Given the description of an element on the screen output the (x, y) to click on. 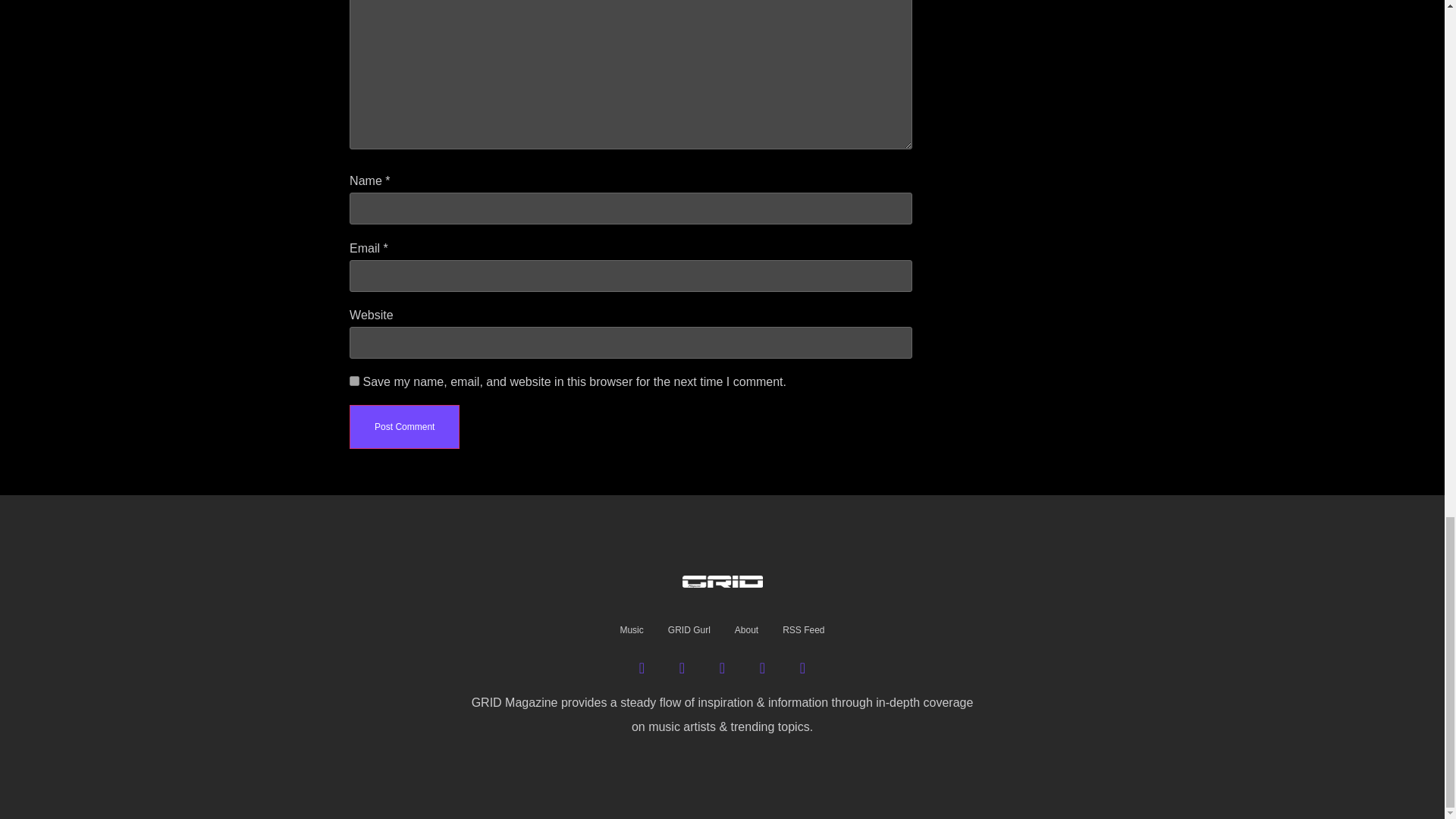
yes (354, 380)
Music (631, 630)
RSS Feed (802, 630)
GRID Gurl (689, 630)
Post Comment (404, 426)
Post Comment (404, 426)
About (746, 630)
